Given the description of an element on the screen output the (x, y) to click on. 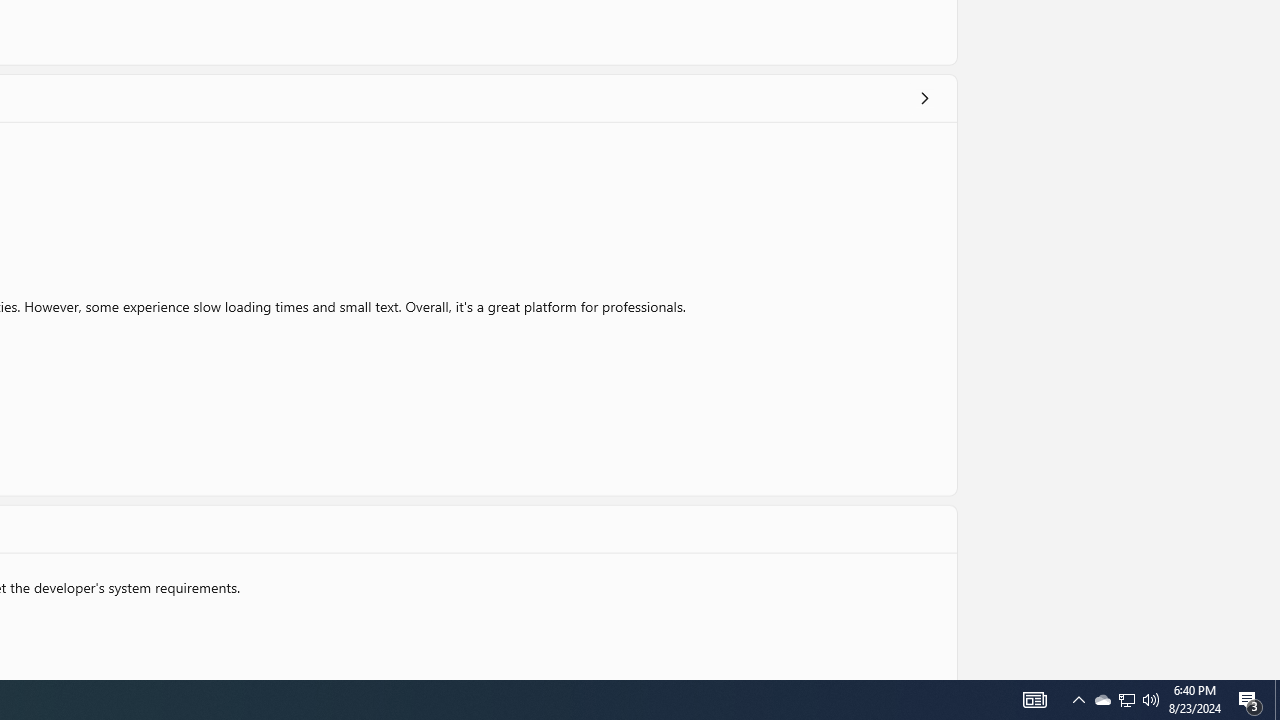
Show all ratings and reviews (924, 97)
